Given the description of an element on the screen output the (x, y) to click on. 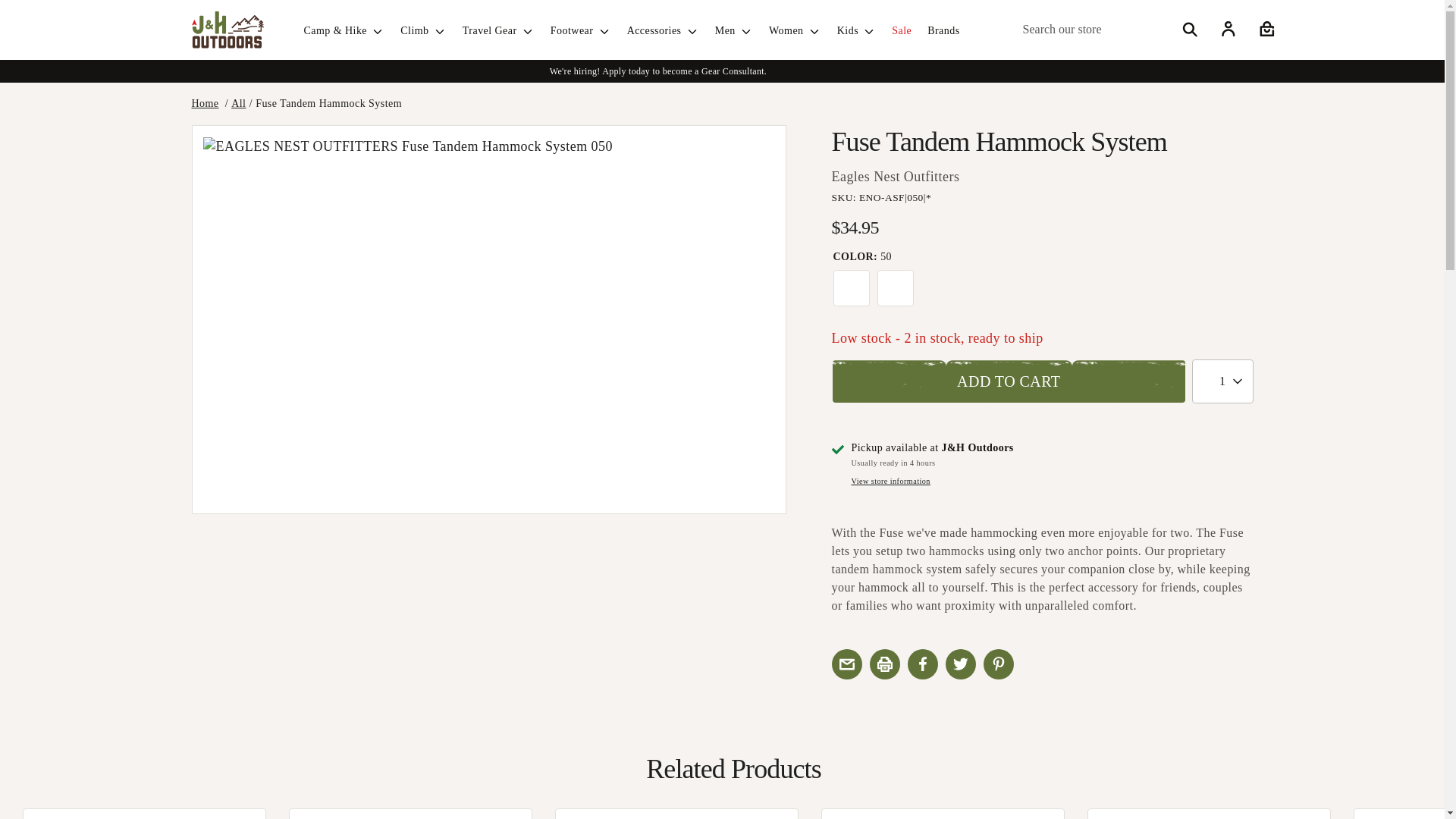
Home (204, 102)
Search Input Field (1108, 29)
